Given the description of an element on the screen output the (x, y) to click on. 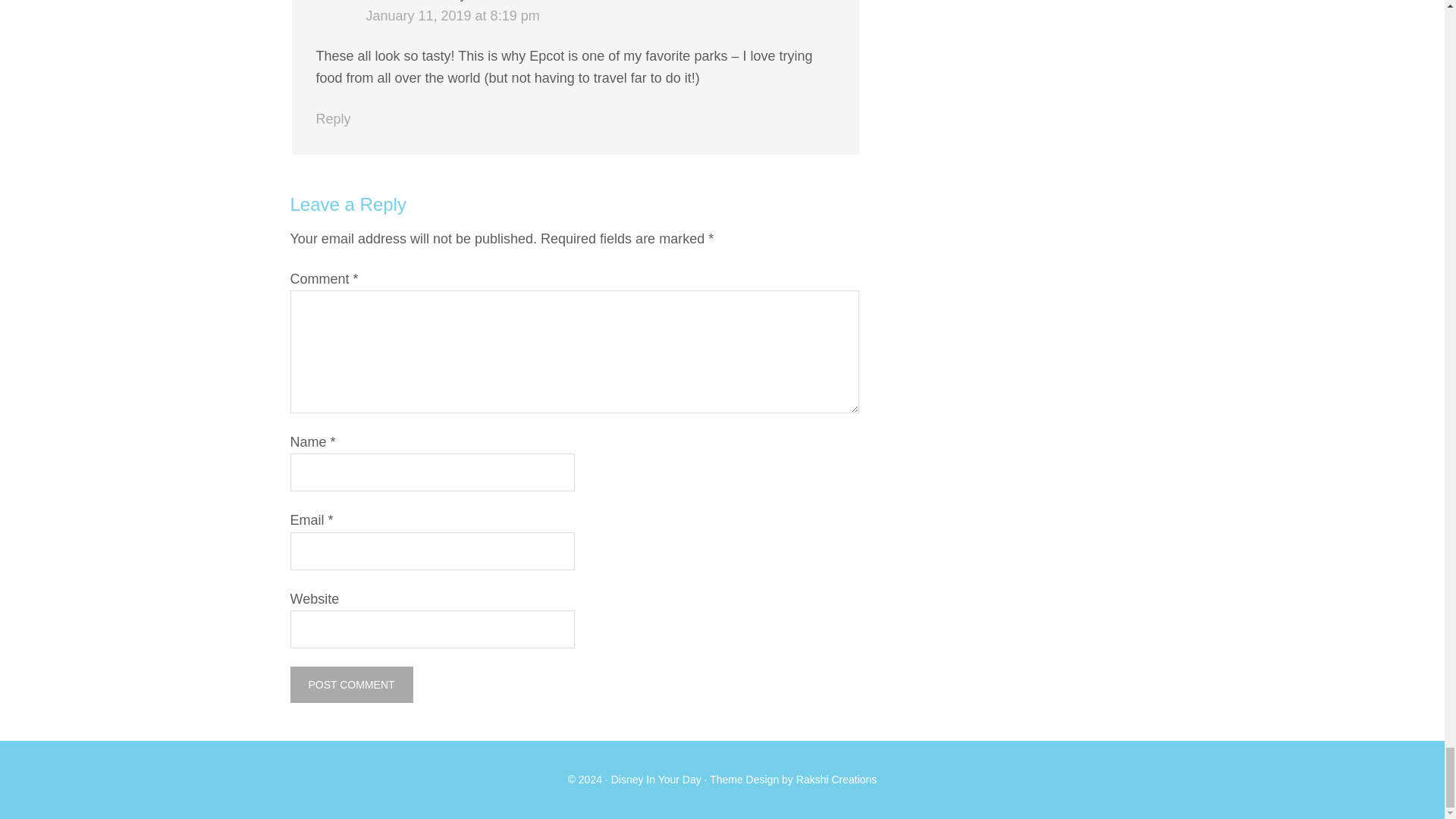
Rakshi Creations (836, 779)
Post Comment (350, 684)
